Given the description of an element on the screen output the (x, y) to click on. 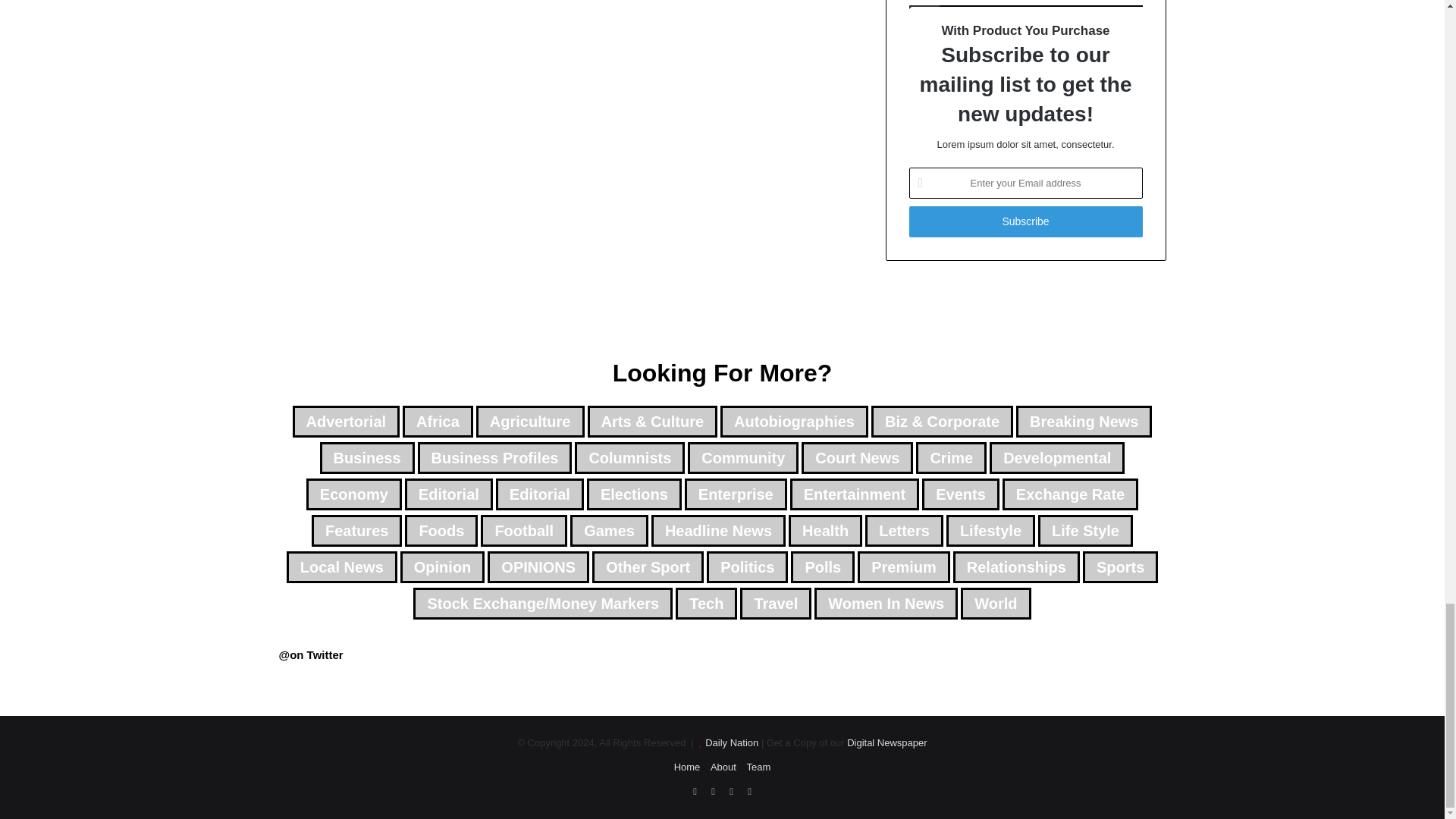
Subscribe (1025, 221)
